Given the description of an element on the screen output the (x, y) to click on. 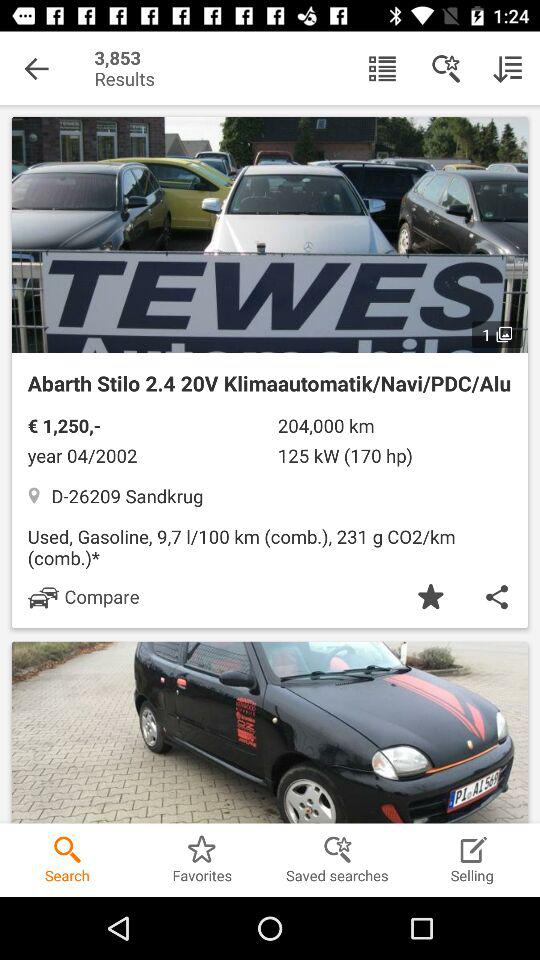
click the item to the left of the 3,853 (36, 68)
